Given the description of an element on the screen output the (x, y) to click on. 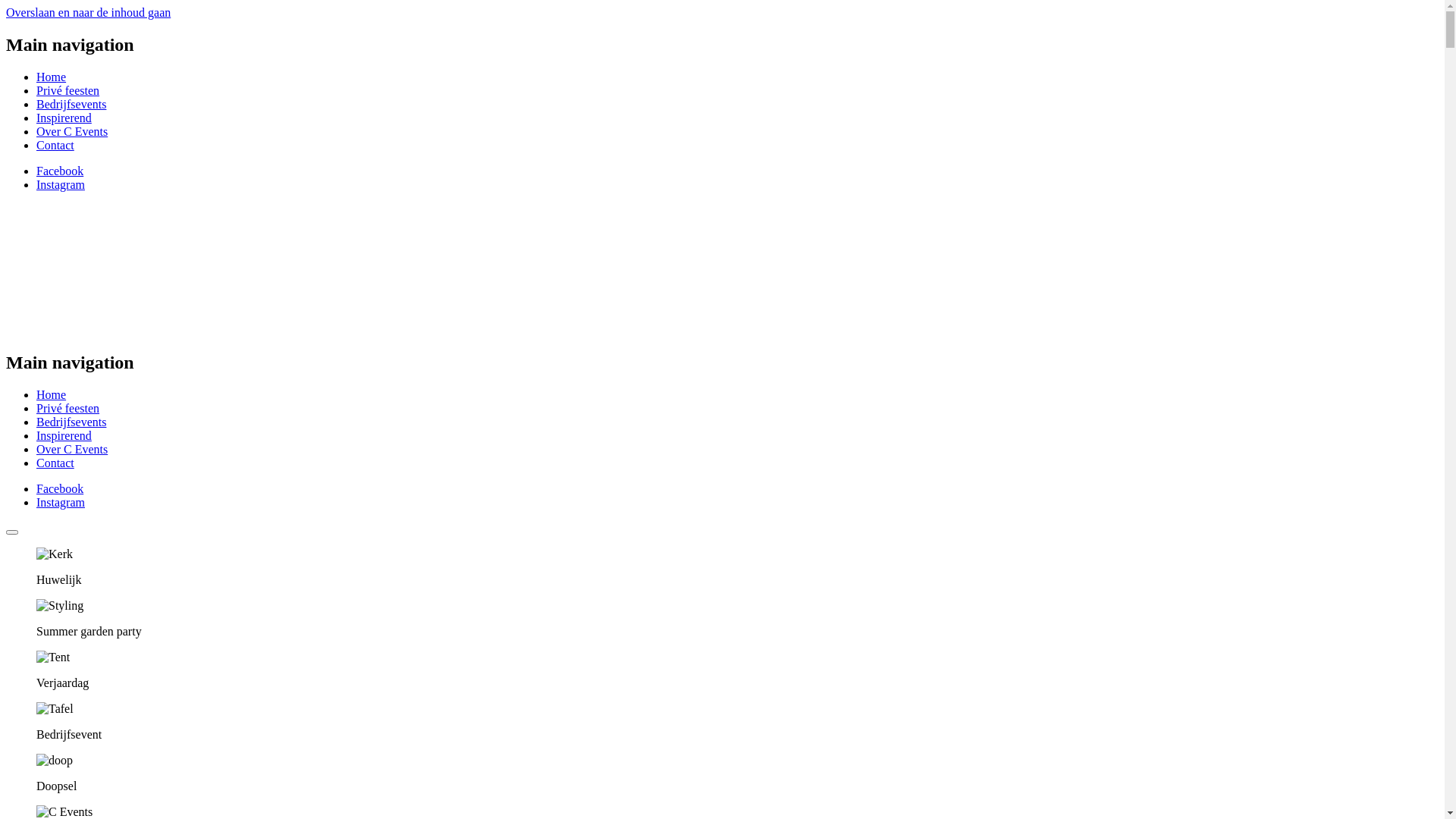
Home Element type: text (50, 76)
Bedrijfsevents Element type: text (71, 103)
Overslaan en naar de inhoud gaan Element type: text (88, 12)
Facebook Element type: text (59, 488)
Inspirerend Element type: text (63, 117)
Home Element type: text (50, 394)
Instagram Element type: text (60, 501)
Bedrijfsevents Element type: text (71, 421)
Summer garden party Element type: hover (59, 605)
Over C Events Element type: text (71, 448)
Over C Events Element type: text (71, 131)
Instagram Element type: text (60, 184)
Home Element type: hover (50, 263)
Contact Element type: text (55, 144)
Contact Element type: text (55, 462)
Doopsel Element type: hover (54, 760)
Inspirerend Element type: text (63, 435)
Bedrijfsevent Element type: hover (54, 708)
Verjaardag Element type: hover (52, 657)
Huwelijk Element type: hover (54, 554)
Home Element type: hover (50, 329)
Facebook Element type: text (59, 170)
